Given the description of an element on the screen output the (x, y) to click on. 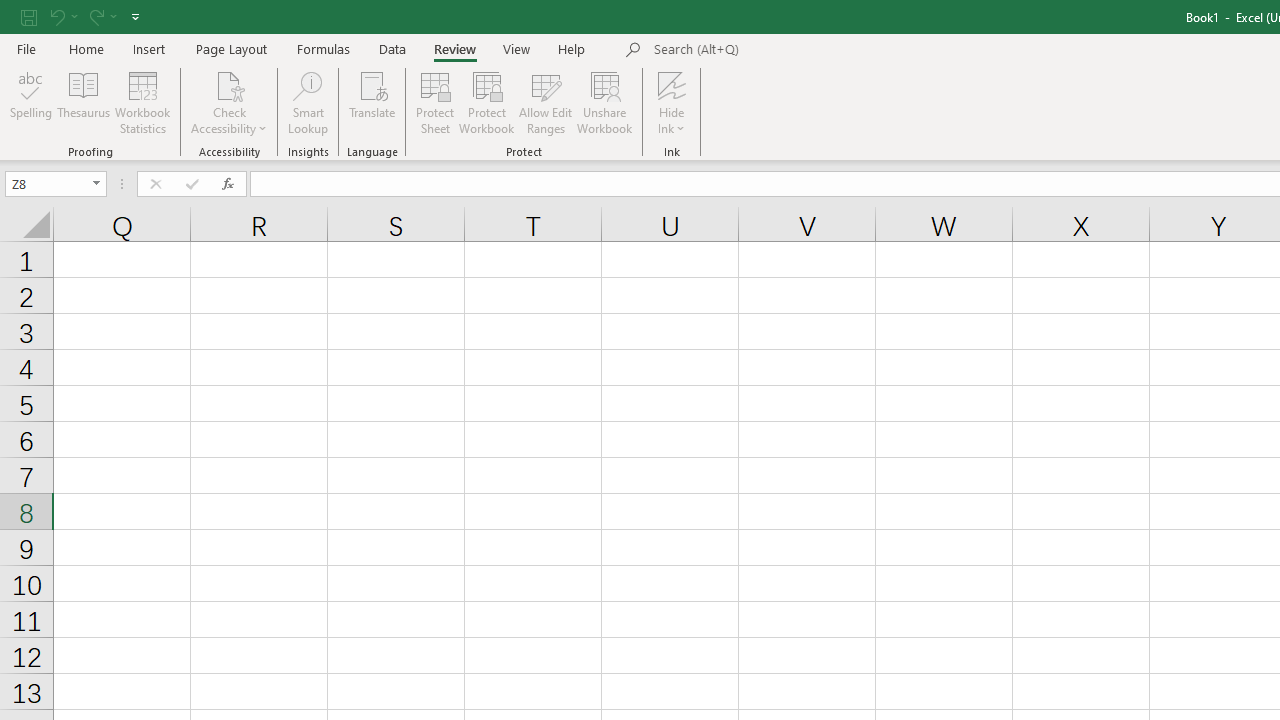
Spelling... (31, 102)
Workbook Statistics (142, 102)
Hide Ink (671, 84)
Allow Edit Ranges (545, 102)
Thesaurus... (83, 102)
